Given the description of an element on the screen output the (x, y) to click on. 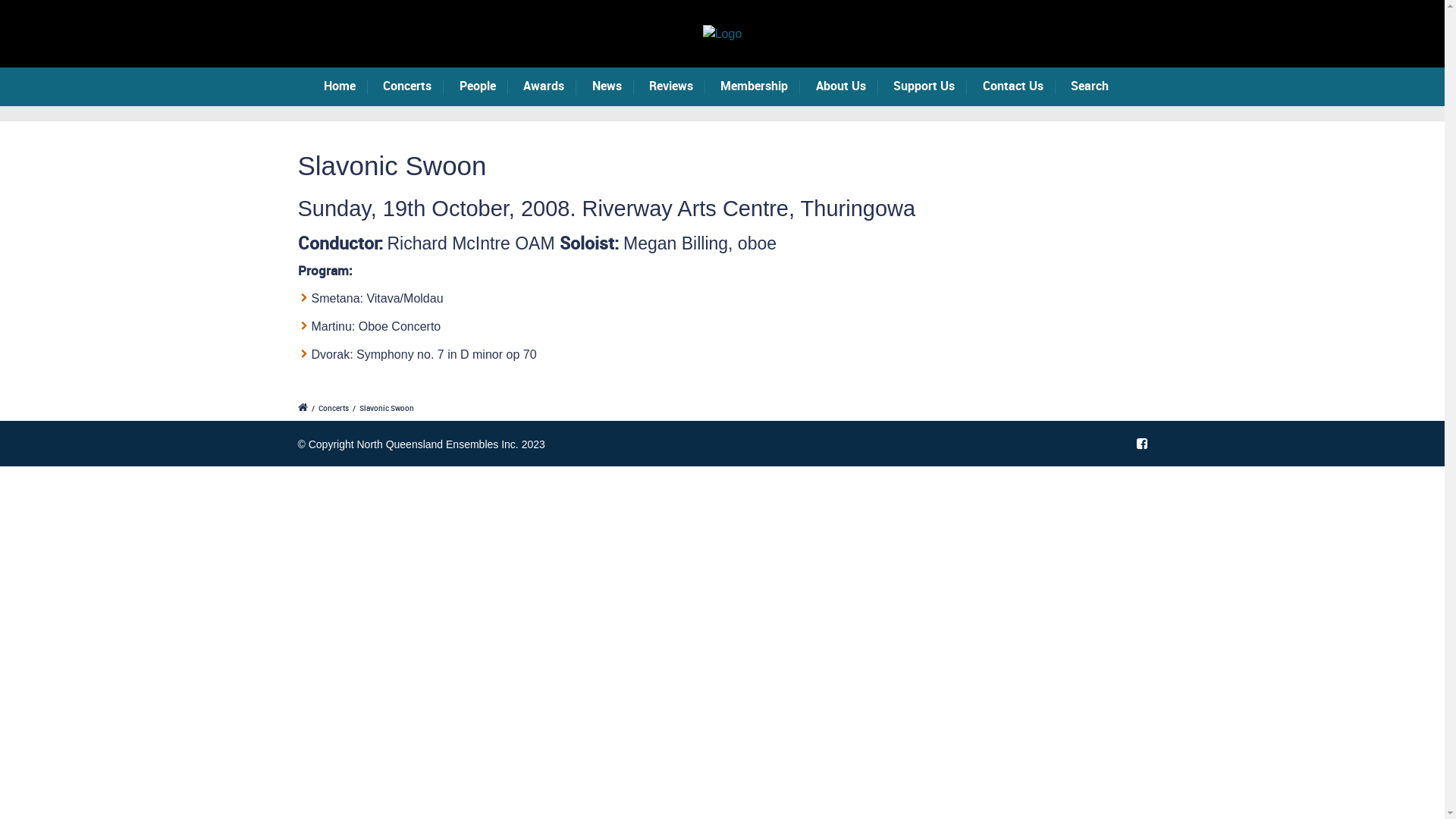
Concerts Element type: text (412, 86)
Home Element type: text (345, 86)
Reviews Element type: text (677, 86)
About Us Element type: text (846, 86)
Search Element type: text (1095, 86)
News Element type: text (612, 86)
Support Us Element type: text (929, 86)
Membership Element type: text (760, 86)
Contact Us Element type: text (1018, 86)
People Element type: text (483, 86)
Concerts Element type: text (333, 407)
Awards Element type: text (549, 86)
